Given the description of an element on the screen output the (x, y) to click on. 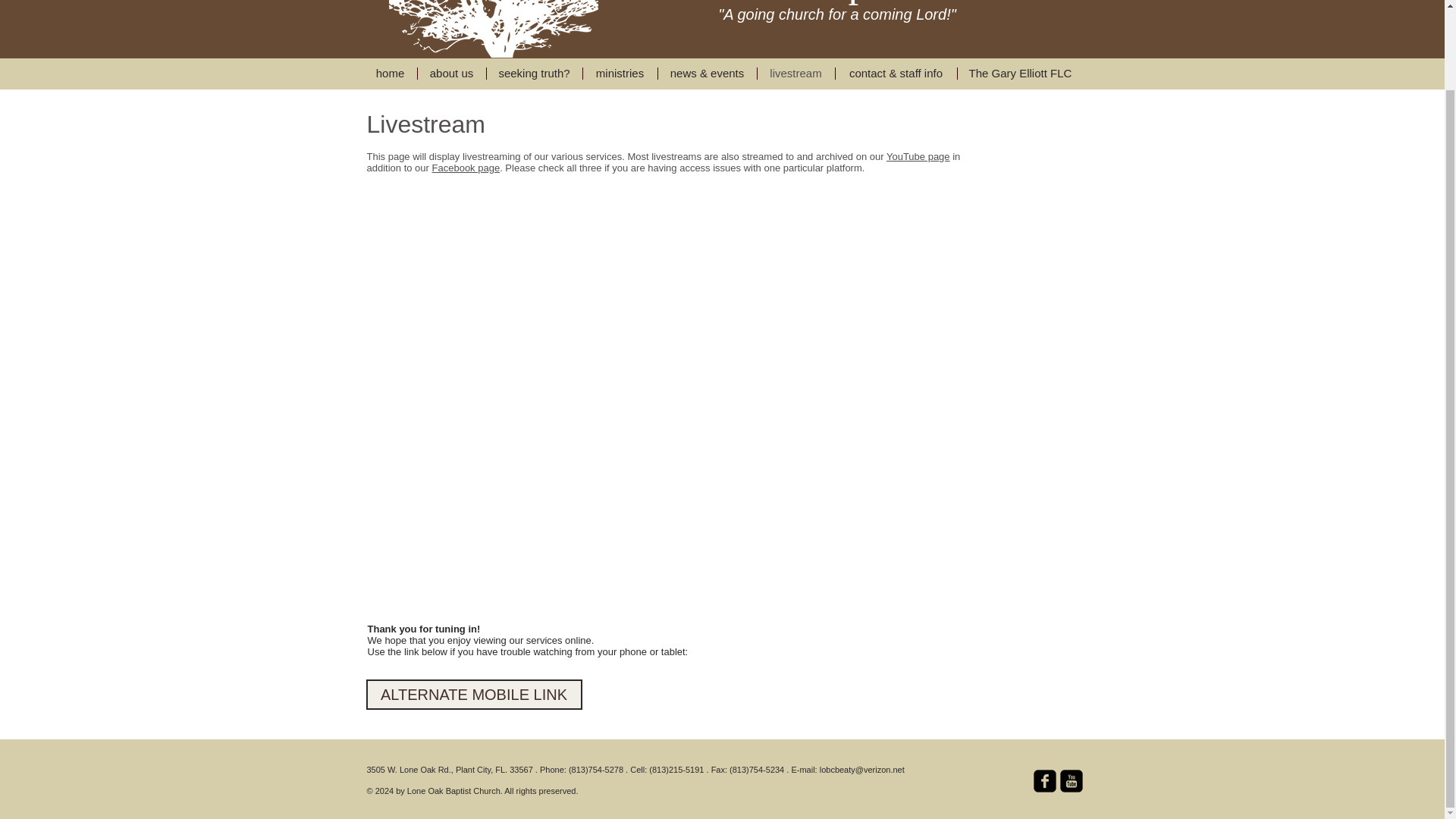
ministries (619, 73)
home (390, 73)
ALTERNATE MOBILE LINK (472, 693)
about us (450, 73)
seeking truth? (534, 73)
The Gary Elliott FLC (1018, 73)
livestream (795, 73)
Facebook page (466, 167)
YouTube page (918, 156)
